Given the description of an element on the screen output the (x, y) to click on. 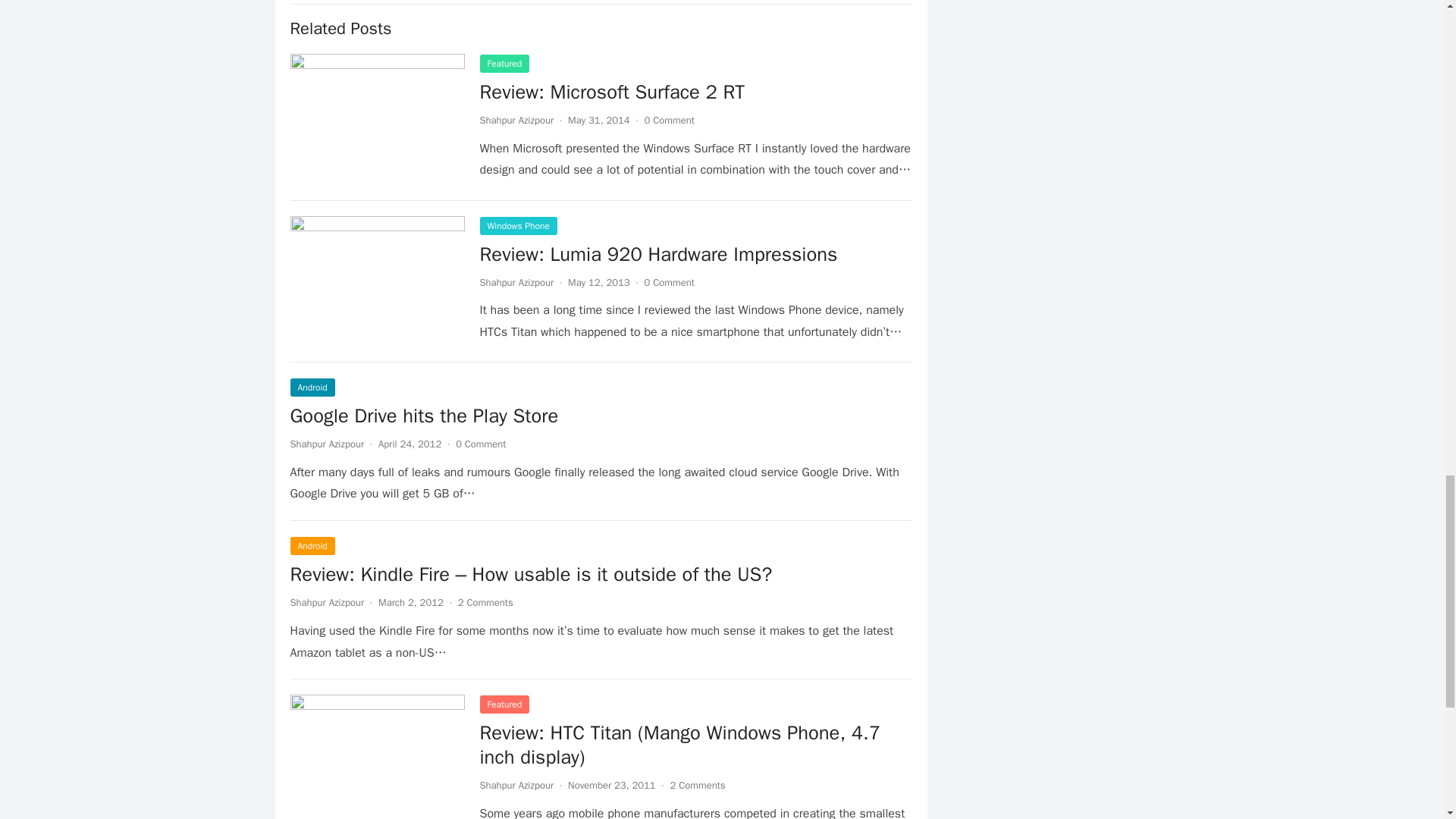
Posts by Shahpur Azizpour (326, 443)
Posts by Shahpur Azizpour (516, 282)
Posts by Shahpur Azizpour (326, 602)
Posts by Shahpur Azizpour (516, 119)
Posts by Shahpur Azizpour (516, 784)
